Given the description of an element on the screen output the (x, y) to click on. 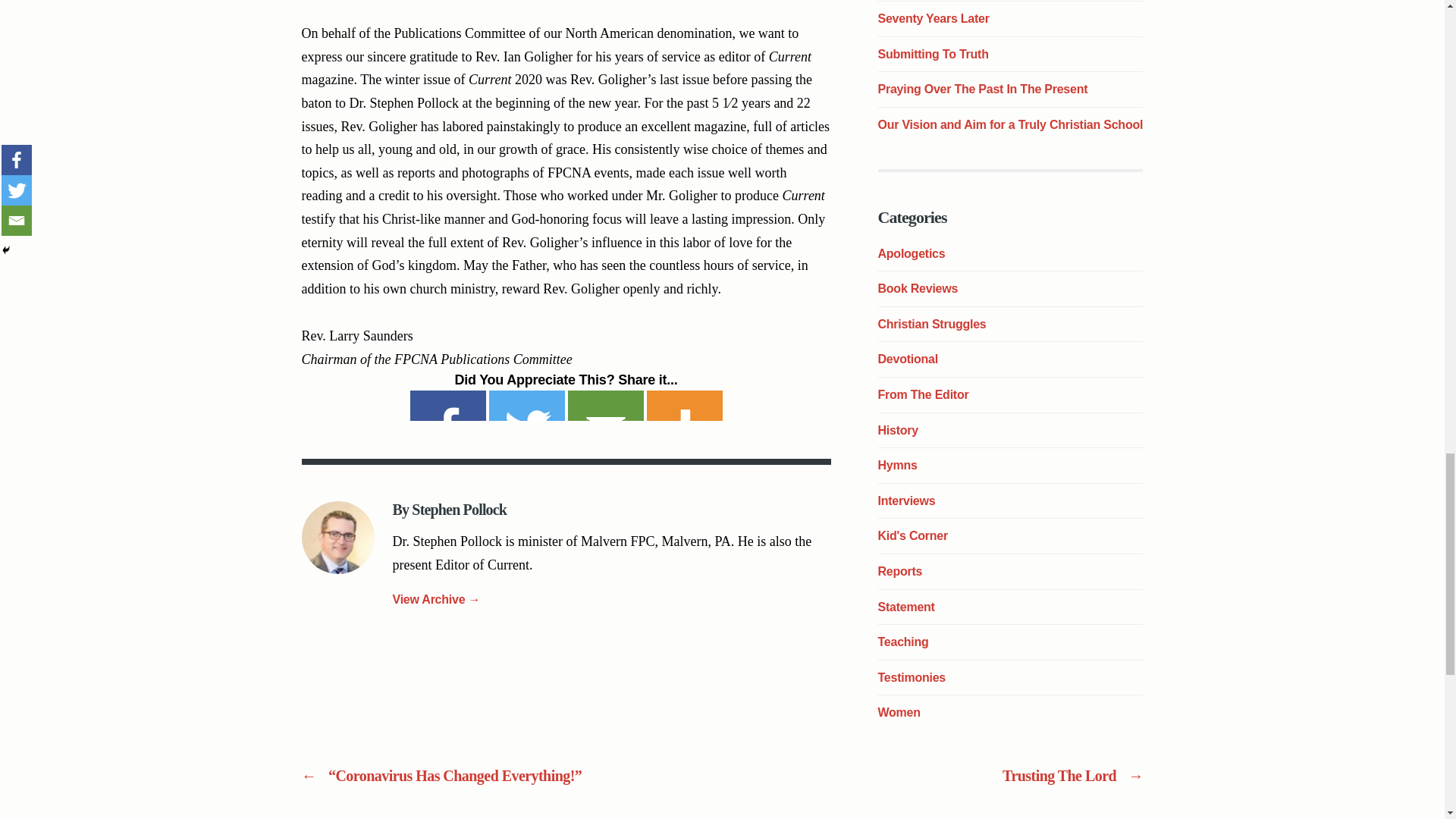
Email (605, 405)
Twitter (525, 405)
More (684, 405)
Facebook (446, 405)
